Given the description of an element on the screen output the (x, y) to click on. 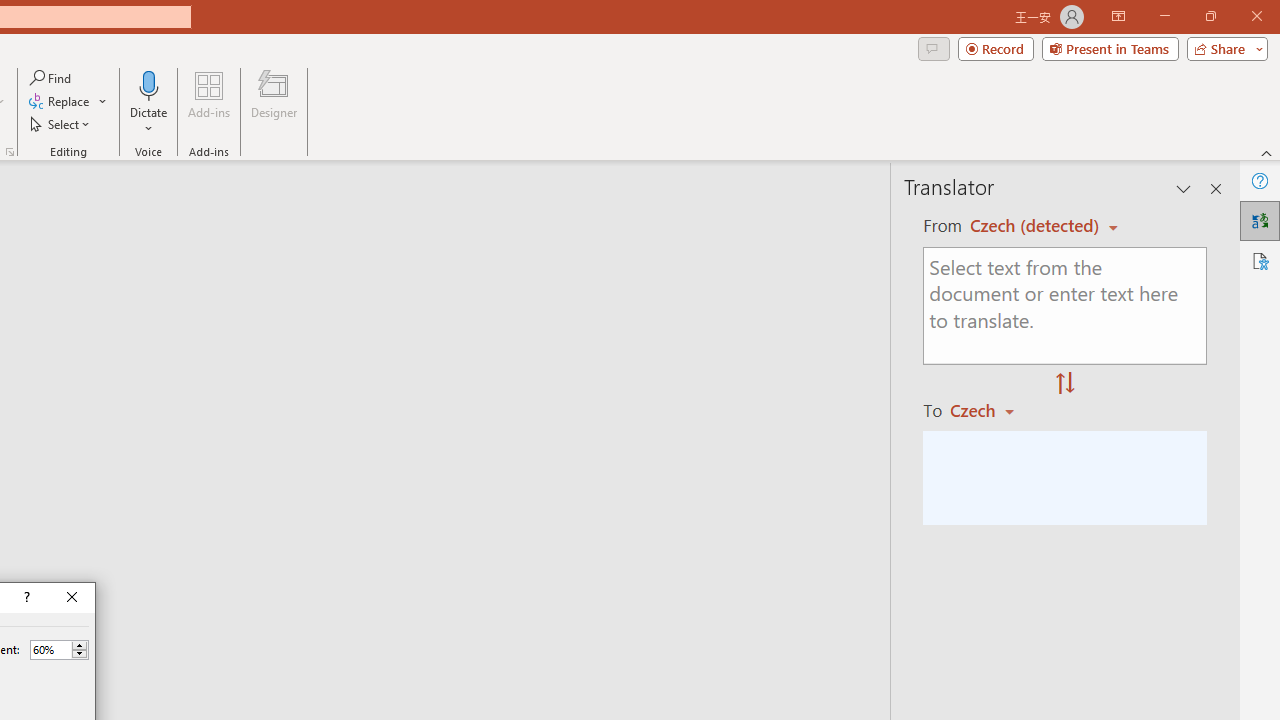
Percent (50, 649)
Context help (25, 597)
